Given the description of an element on the screen output the (x, y) to click on. 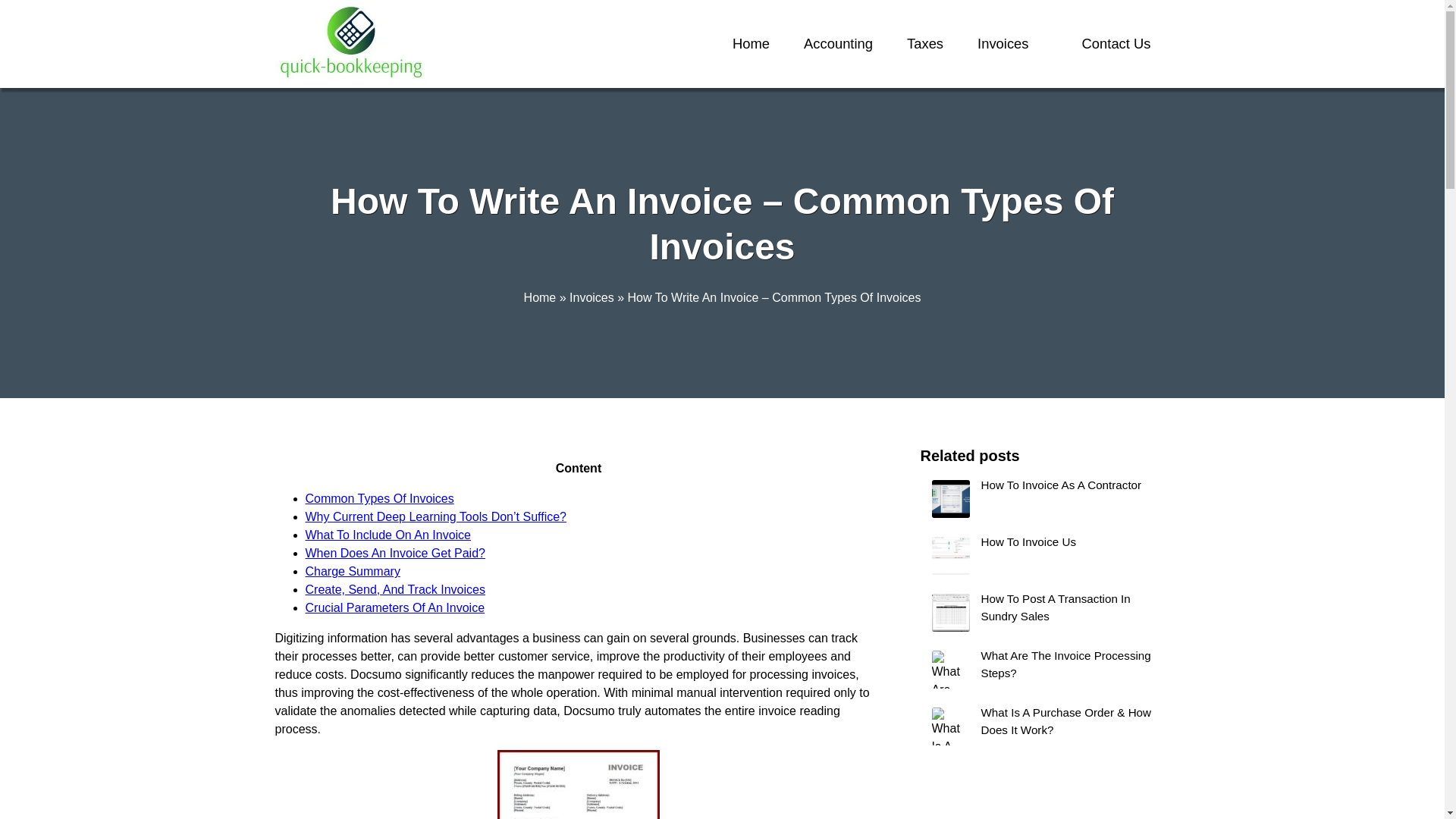
Contact Us (1116, 43)
Accounting (837, 43)
How To Post A Transaction In Sundry Sales (1045, 612)
How To Invoice Us (1045, 555)
How To Invoice As A Contractor (1045, 498)
When Does An Invoice Get Paid? (394, 553)
Crucial Parameters Of An Invoice (394, 607)
Invoices (591, 297)
Charge Summary (351, 571)
Taxes (925, 43)
